Given the description of an element on the screen output the (x, y) to click on. 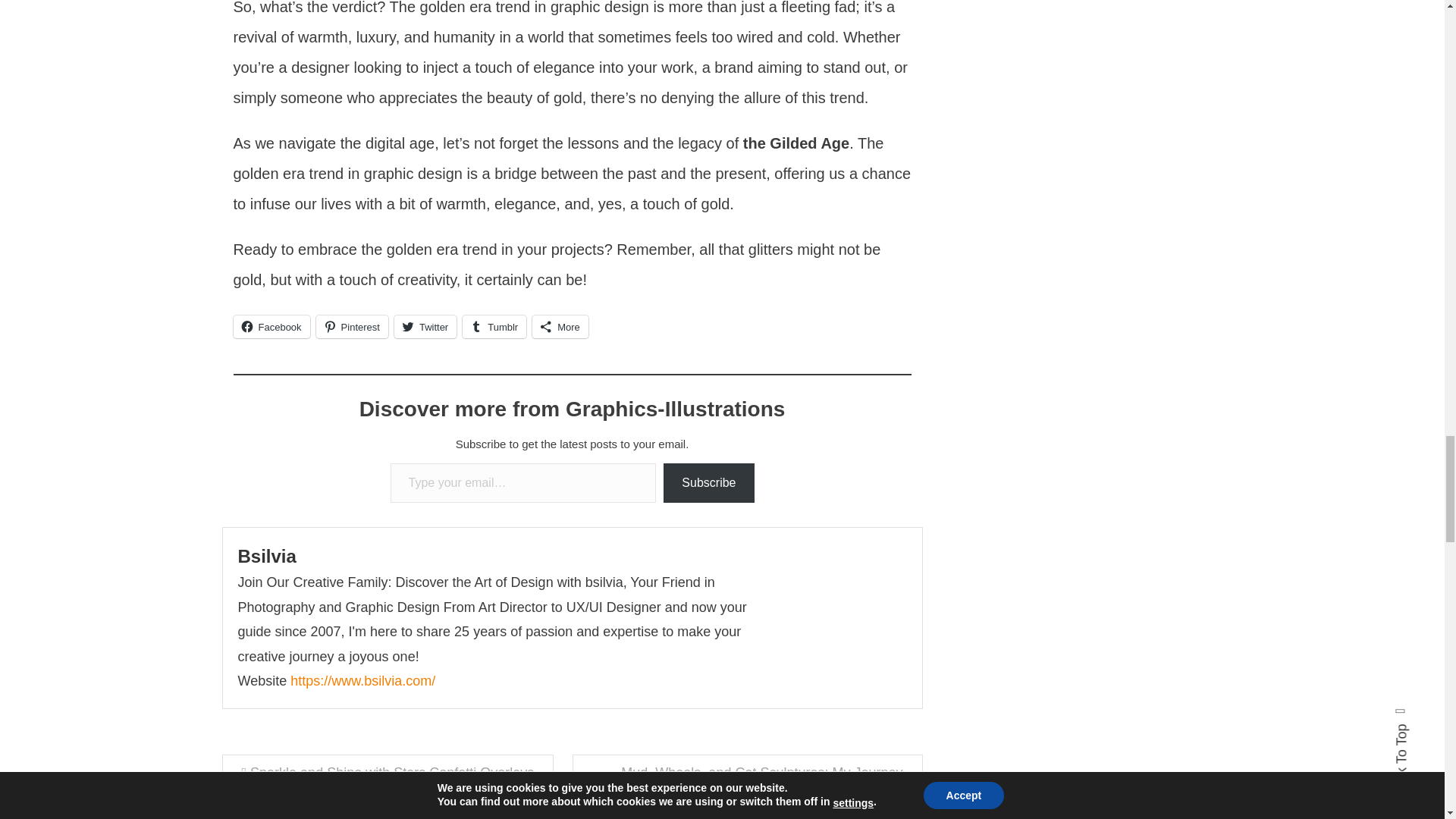
Subscribe (708, 483)
Facebook (271, 326)
Click to share on Pinterest (351, 326)
Pinterest (351, 326)
Click to share on Facebook (271, 326)
More (560, 326)
Tumblr (494, 326)
Twitter (425, 326)
